Given the description of an element on the screen output the (x, y) to click on. 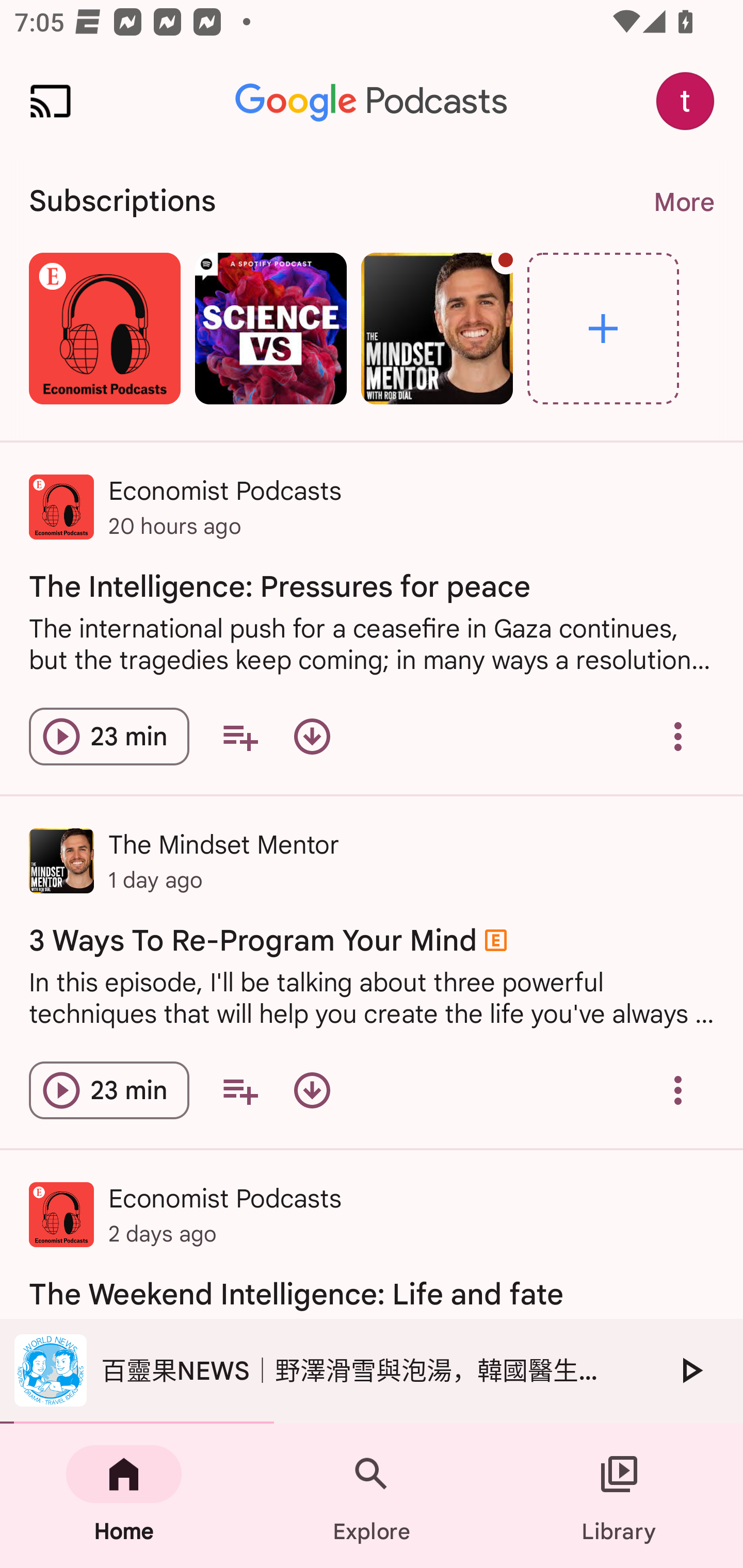
Cast. Disconnected (50, 101)
More More. Navigate to subscriptions page. (683, 202)
Economist Podcasts (104, 328)
Science Vs (270, 328)
The Mindset Mentor (436, 328)
Explore (603, 328)
Add to your queue (239, 736)
Download episode (312, 736)
Overflow menu (677, 736)
Play episode 3 Ways To Re-Program Your Mind 23 min (108, 1090)
Add to your queue (239, 1090)
Download episode (312, 1090)
Overflow menu (677, 1090)
Play (690, 1370)
Explore (371, 1495)
Library (619, 1495)
